Given the description of an element on the screen output the (x, y) to click on. 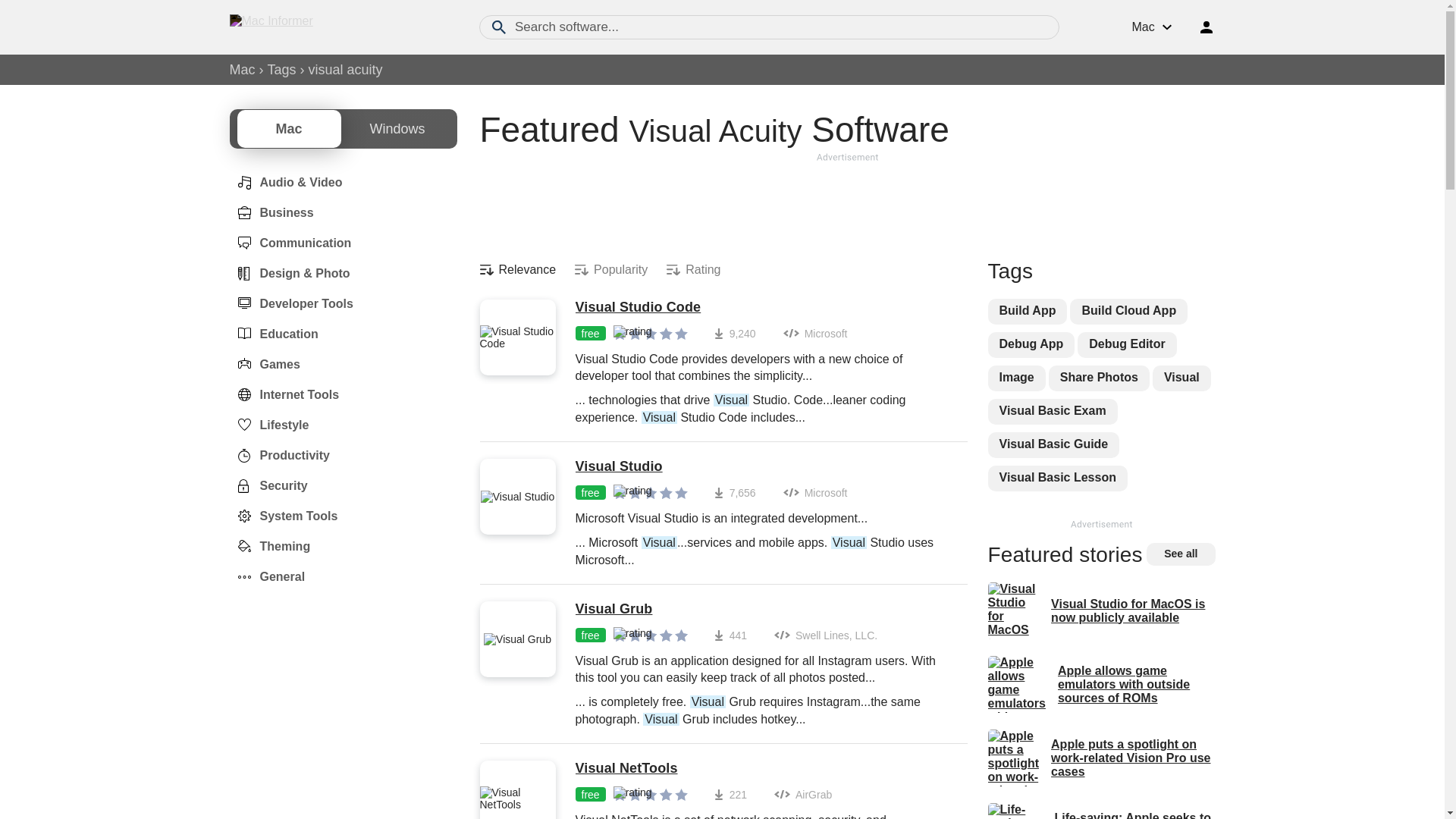
Relevance (517, 269)
Relevance (517, 269)
Search software... (769, 27)
Visual Studio (763, 466)
Search (498, 27)
Visual Studio Code (763, 307)
Productivity (278, 455)
Windows (396, 128)
Games (263, 364)
Business (270, 213)
